Given the description of an element on the screen output the (x, y) to click on. 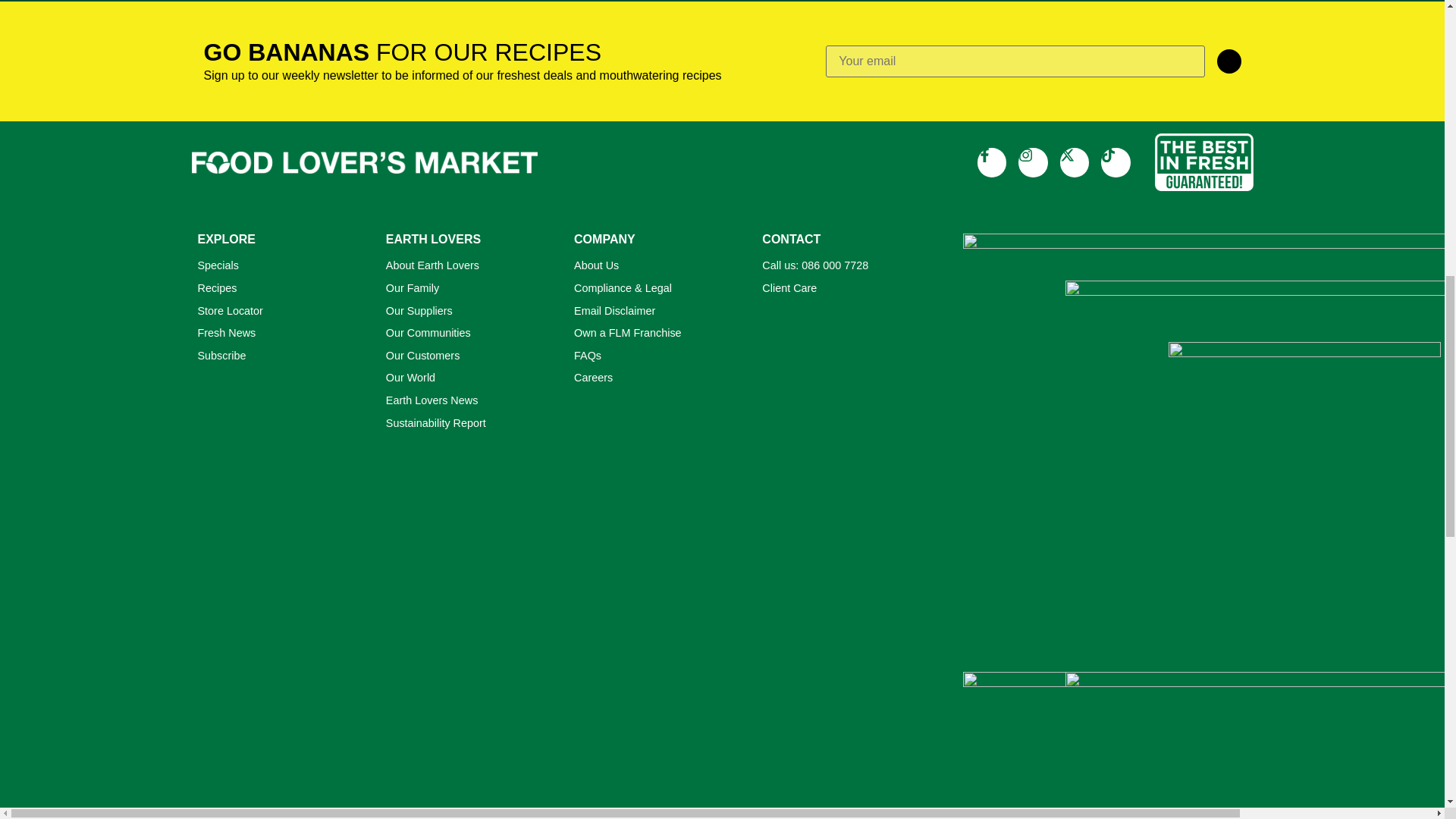
About Earth Lovers (467, 265)
Store Locator (278, 311)
Fresh News (278, 333)
Specials (278, 265)
Recipes (278, 288)
Subscribe (278, 356)
Our Family (467, 288)
